Given the description of an element on the screen output the (x, y) to click on. 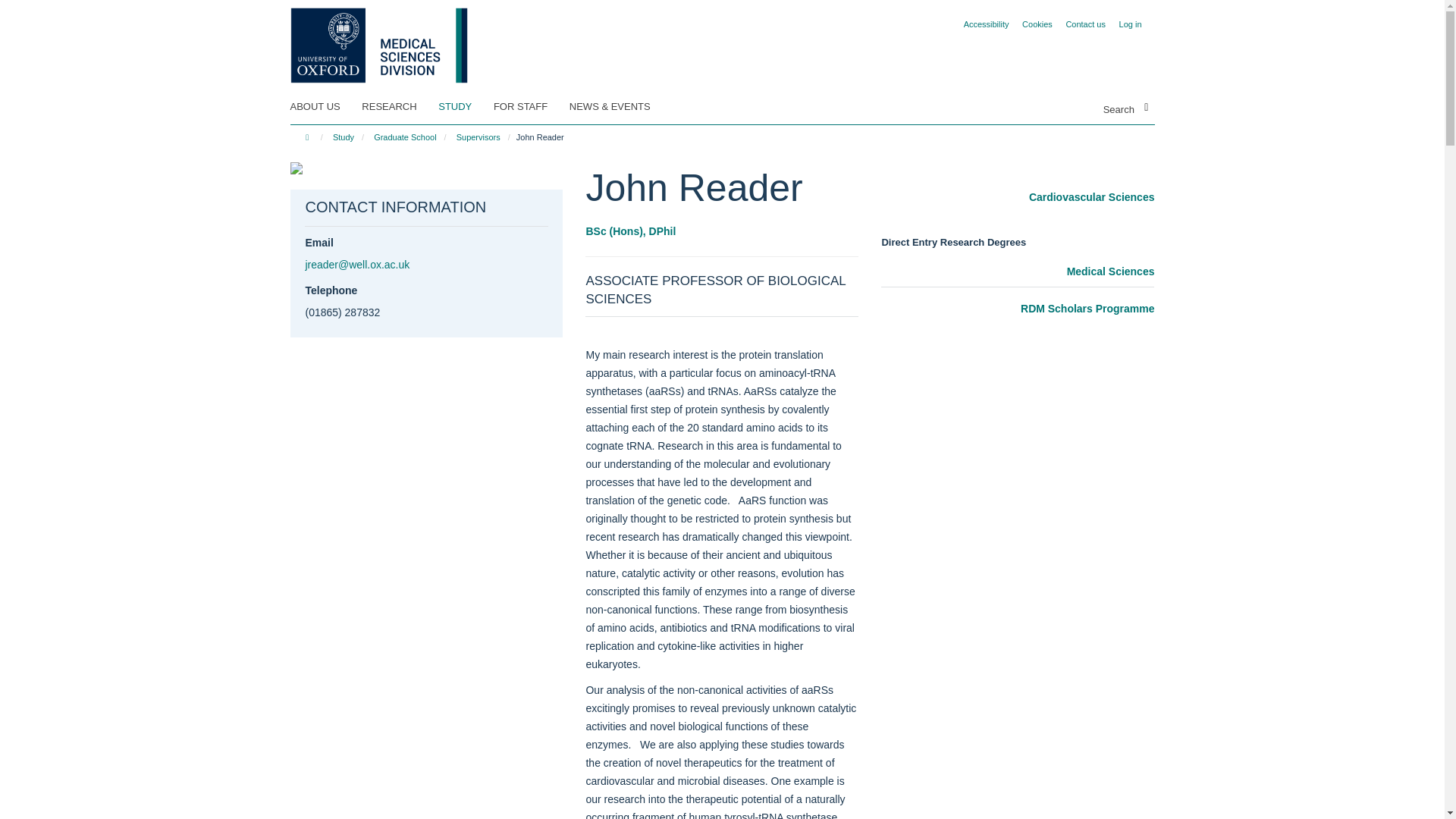
Accessibility (986, 23)
Cookies (1037, 23)
Contact us (1085, 23)
RDM Scholars Programme (1017, 309)
Medical Sciences (1017, 271)
Supervisors (477, 136)
STUDY (464, 106)
ABOUT US (323, 106)
Graduate School (404, 136)
Cardiovascular Sciences (1017, 198)
